Given the description of an element on the screen output the (x, y) to click on. 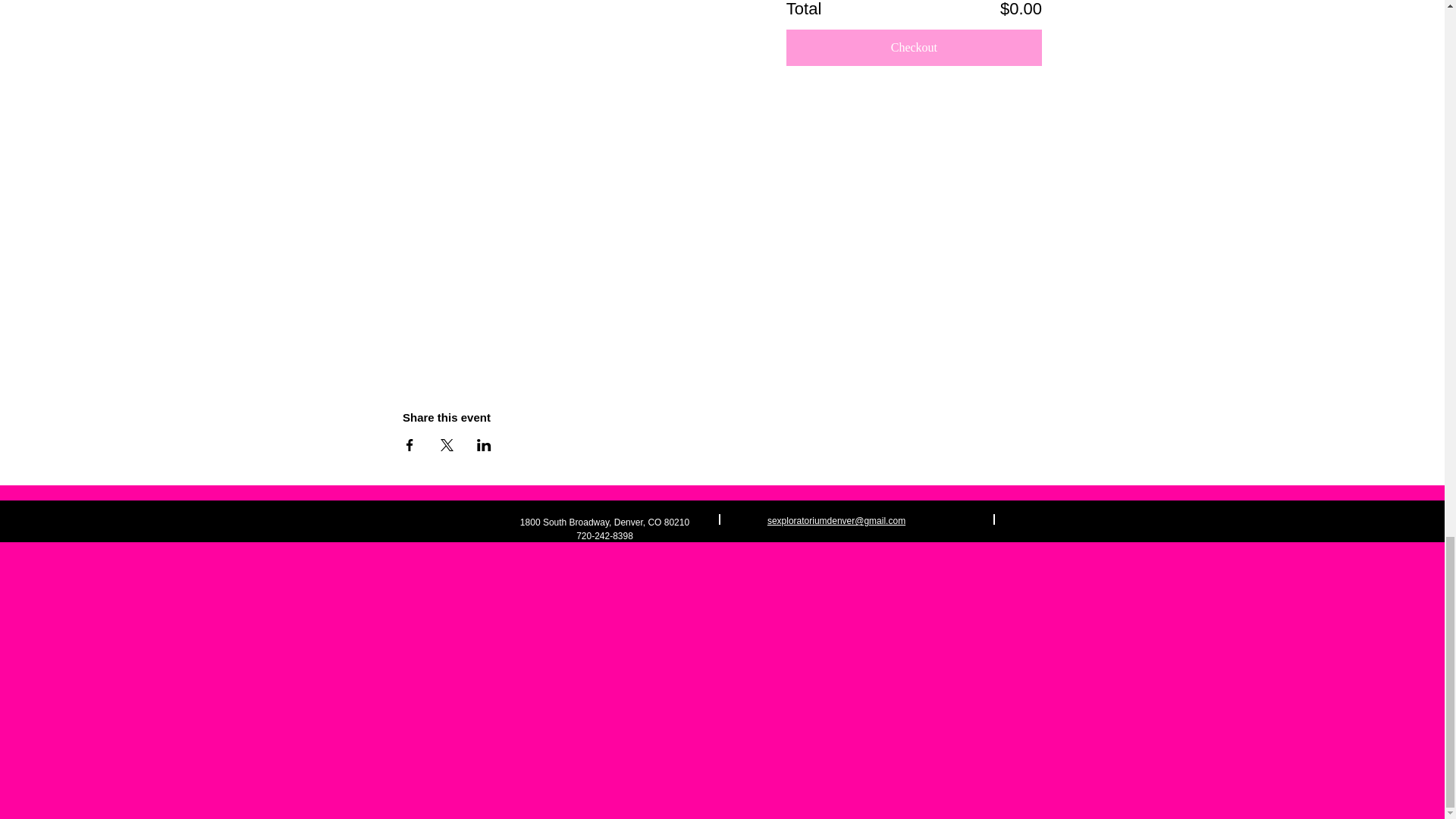
Checkout (914, 47)
